Given the description of an element on the screen output the (x, y) to click on. 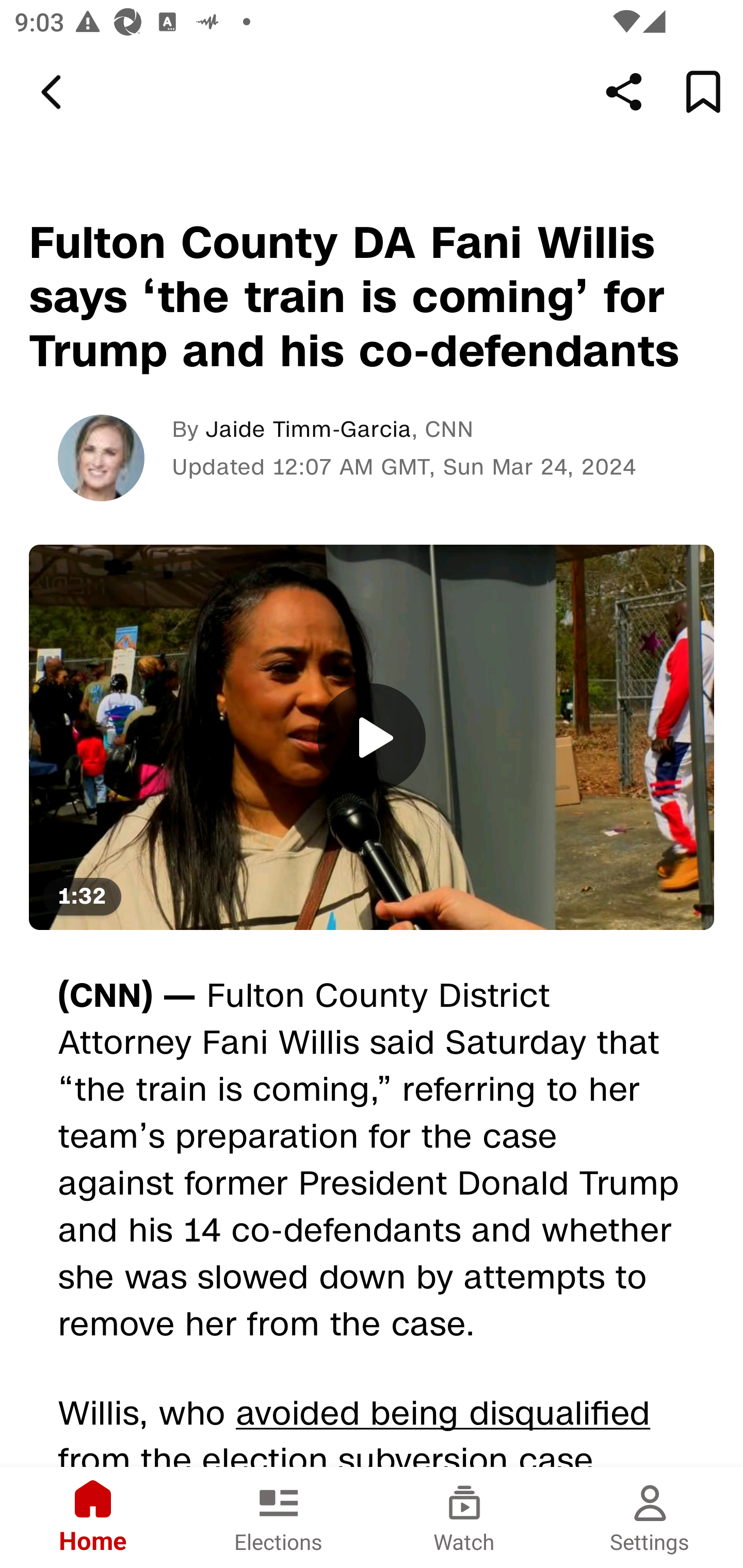
Back Button (54, 92)
Share (623, 91)
Bookmark (702, 91)
Elections (278, 1517)
Watch (464, 1517)
Settings (650, 1517)
